Given the description of an element on the screen output the (x, y) to click on. 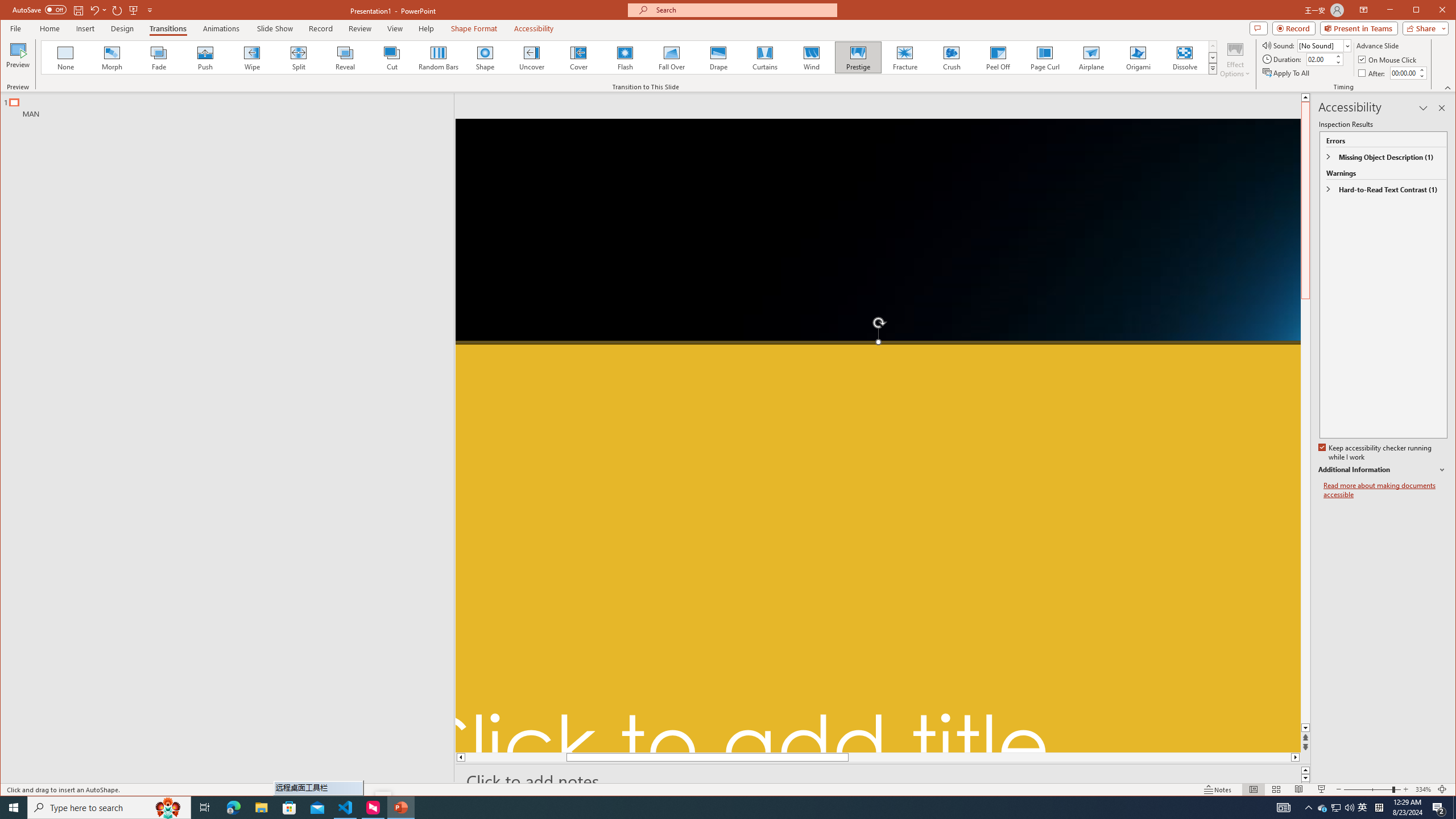
Share (1422, 27)
Push (205, 57)
Flash (624, 57)
Page down (1305, 603)
Normal (1253, 789)
Reading View (1298, 789)
Title TextBox (877, 546)
More Options (105, 9)
Class: MsoCommandBar (728, 789)
Slide Notes (882, 780)
Morph (111, 57)
Type here to search (108, 807)
